Given the description of an element on the screen output the (x, y) to click on. 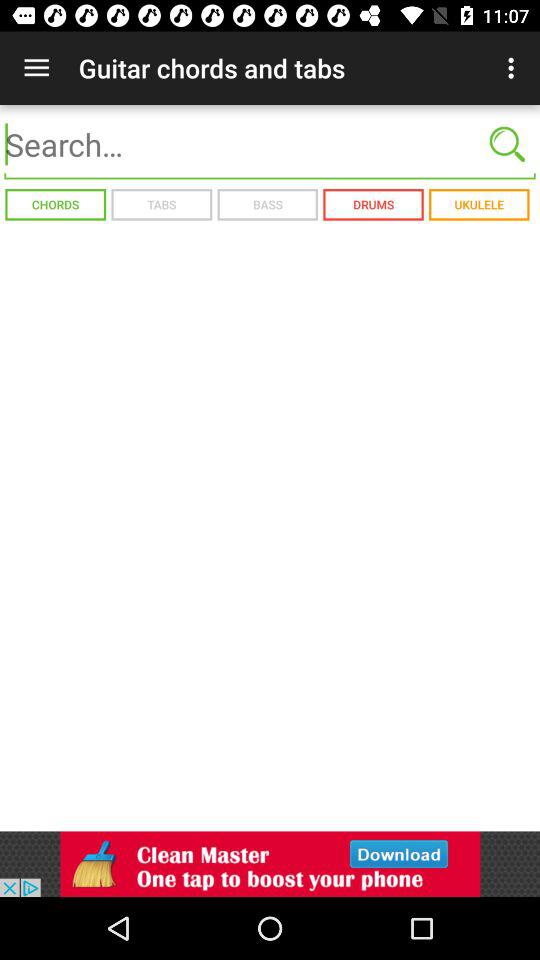
search the site (270, 144)
